Given the description of an element on the screen output the (x, y) to click on. 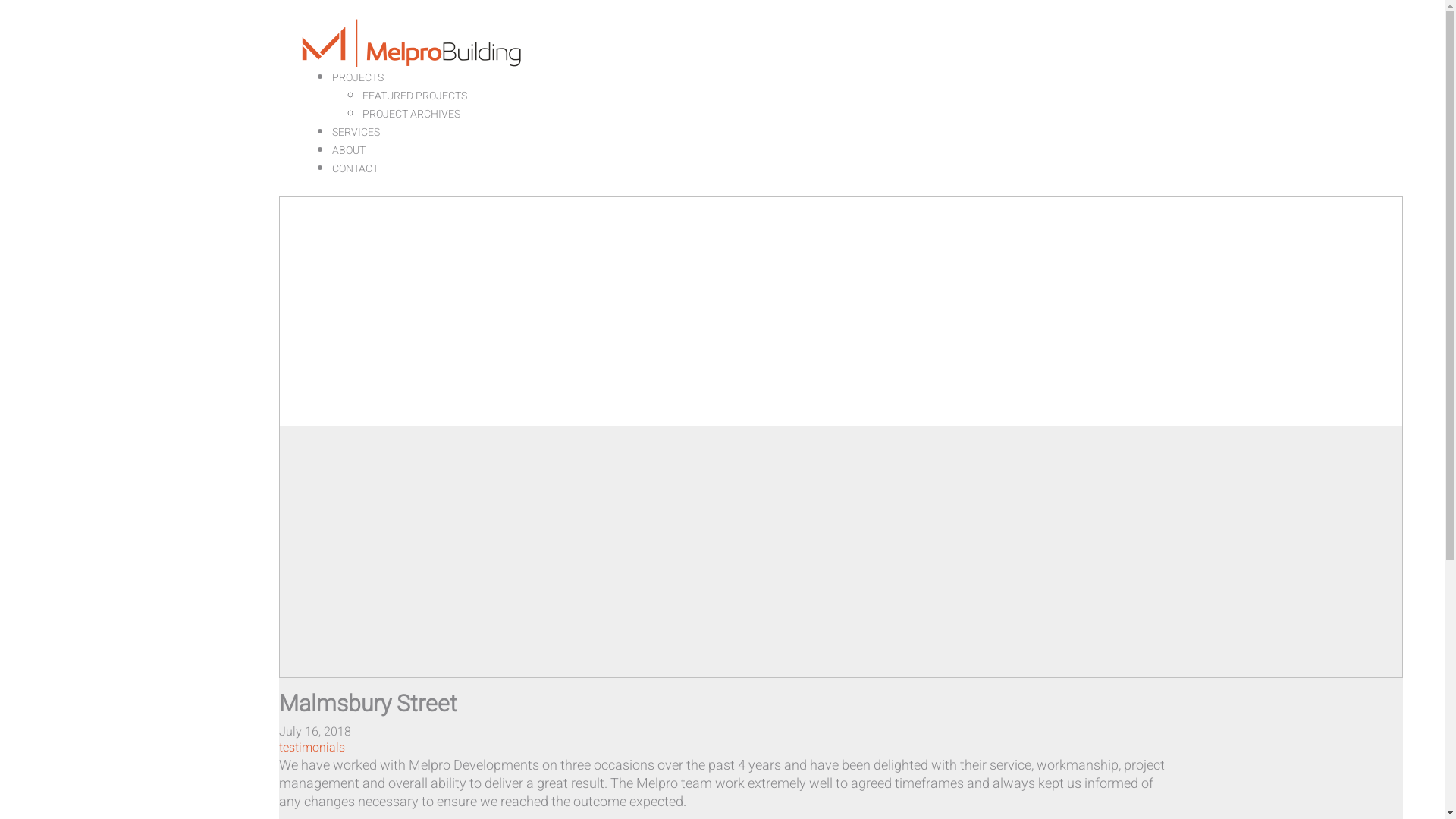
CONTACT Element type: text (355, 168)
PROJECTS Element type: text (357, 77)
SERVICES Element type: text (355, 132)
ABOUT Element type: text (348, 150)
testimonials Element type: text (312, 747)
PROJECT ARCHIVES Element type: text (411, 114)
FEATURED PROJECTS Element type: text (414, 95)
